Given the description of an element on the screen output the (x, y) to click on. 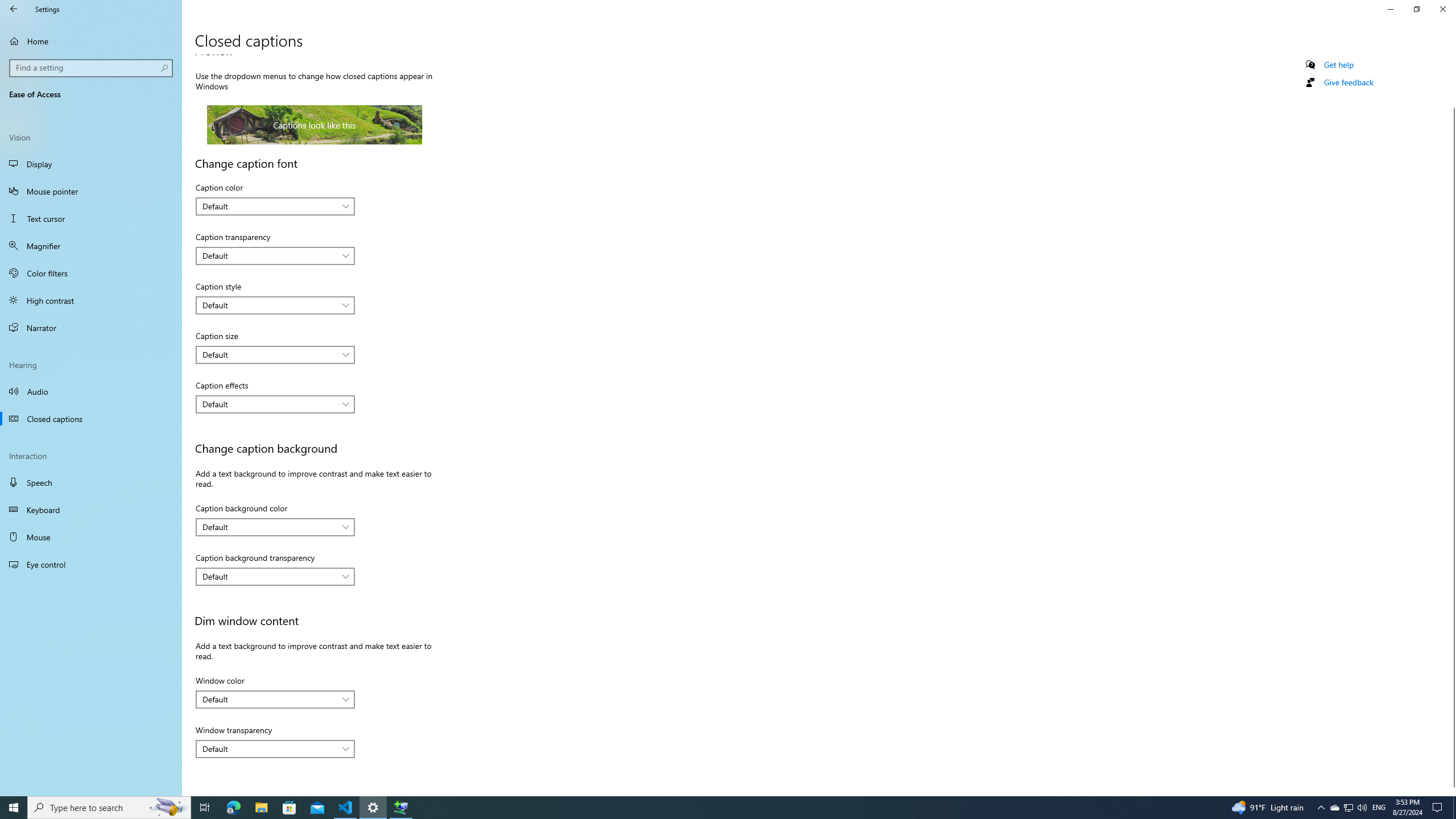
Keyboard (91, 509)
Give feedback (1348, 81)
Default (269, 748)
Window color (275, 699)
Vertical Small Decrease (1451, 58)
Display (91, 163)
Mouse pointer (91, 190)
